Given the description of an element on the screen output the (x, y) to click on. 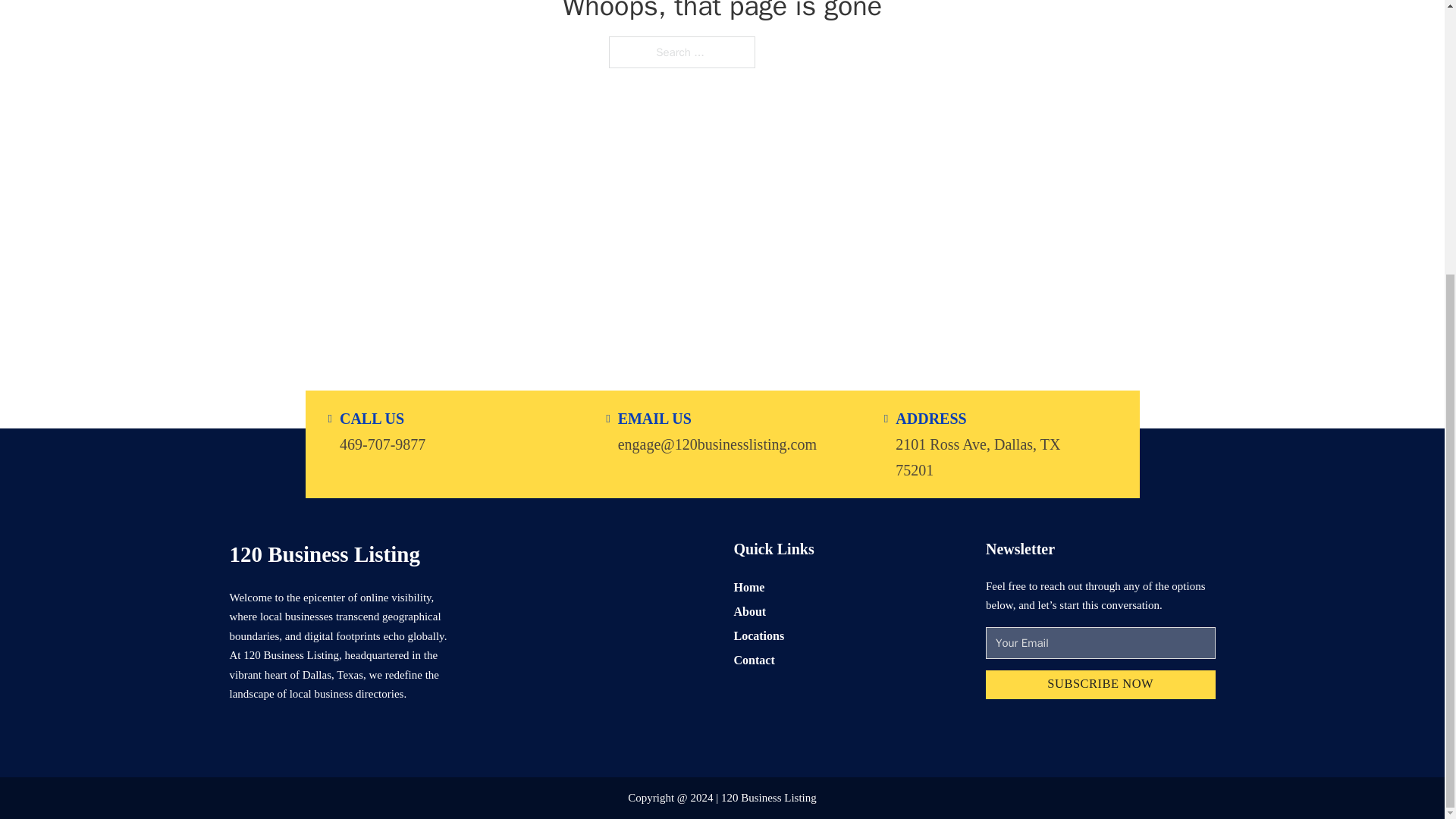
About (750, 611)
Locations (758, 635)
SUBSCRIBE NOW (1100, 685)
469-707-9877 (382, 443)
120 Business Listing (323, 553)
Contact (753, 660)
Home (749, 586)
